Given the description of an element on the screen output the (x, y) to click on. 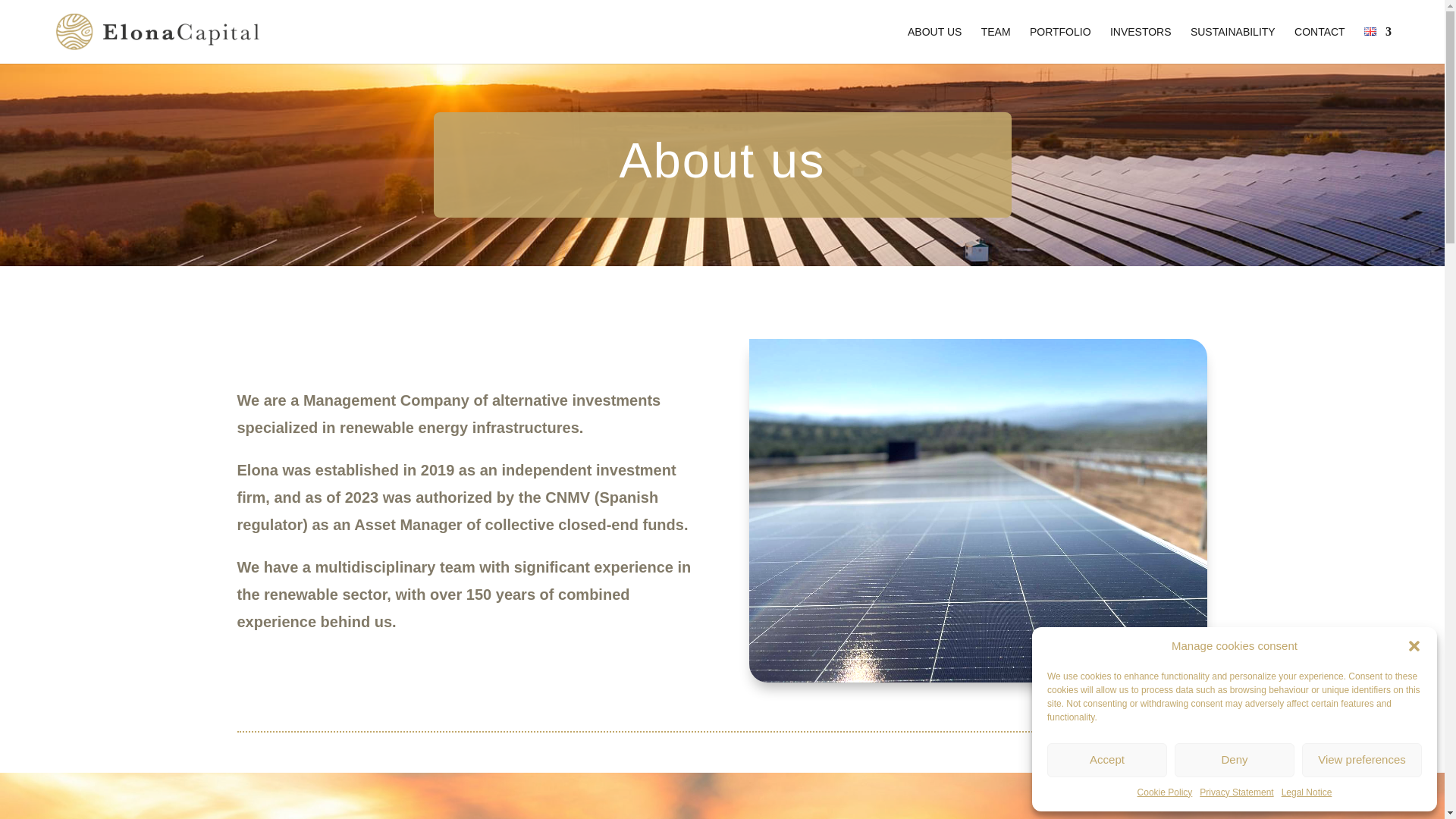
ABOUT US (933, 44)
Cookie Policy (1164, 792)
CONTACT (1319, 44)
View preferences (1361, 759)
Privacy Statement (1235, 792)
SUSTAINABILITY (1233, 44)
Accept (1106, 759)
Legal Notice (1306, 792)
INVESTORS (1140, 44)
Deny (1234, 759)
PORTFOLIO (1059, 44)
